Given the description of an element on the screen output the (x, y) to click on. 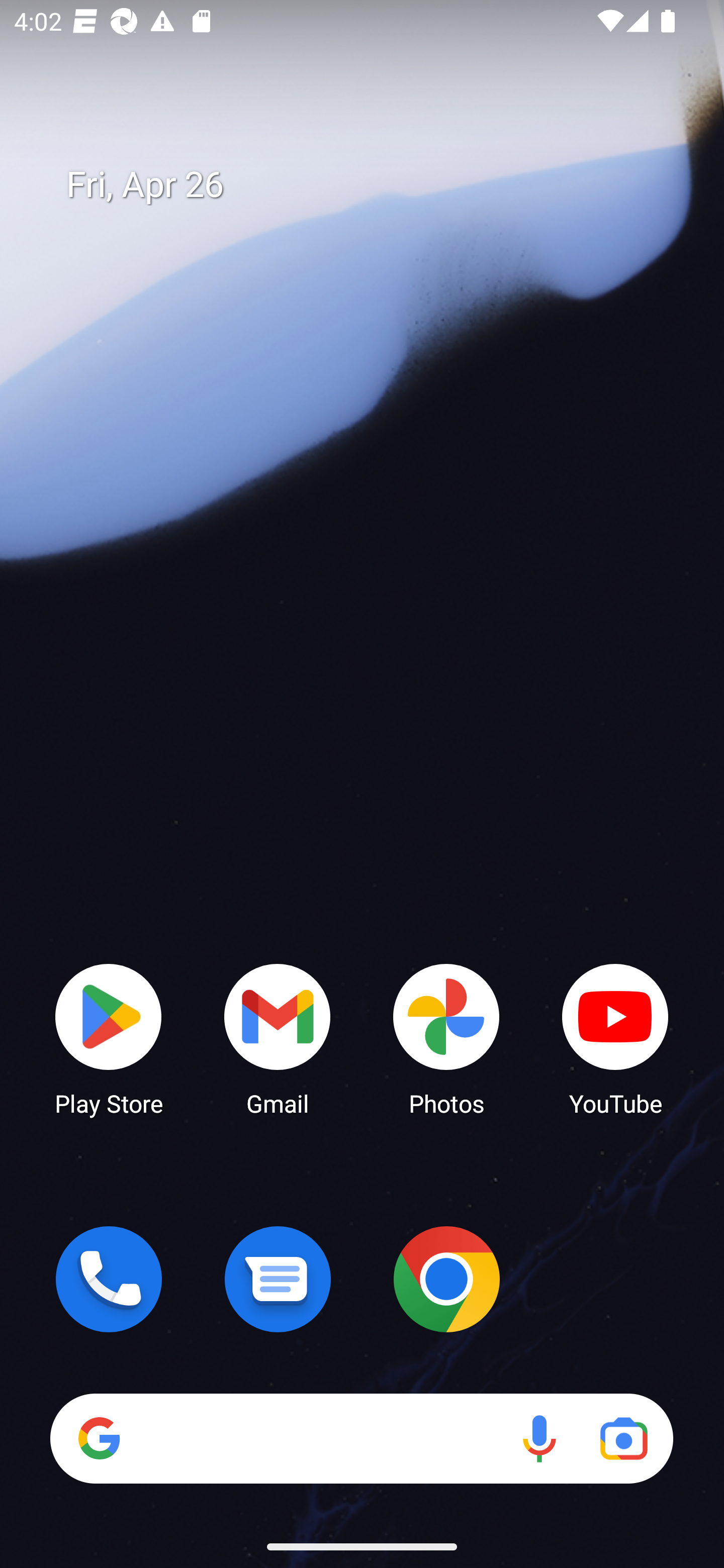
Fri, Apr 26 (375, 184)
Play Store (108, 1038)
Gmail (277, 1038)
Photos (445, 1038)
YouTube (615, 1038)
Phone (108, 1279)
Messages (277, 1279)
Chrome (446, 1279)
Search Voice search Google Lens (361, 1438)
Voice search (539, 1438)
Google Lens (623, 1438)
